Given the description of an element on the screen output the (x, y) to click on. 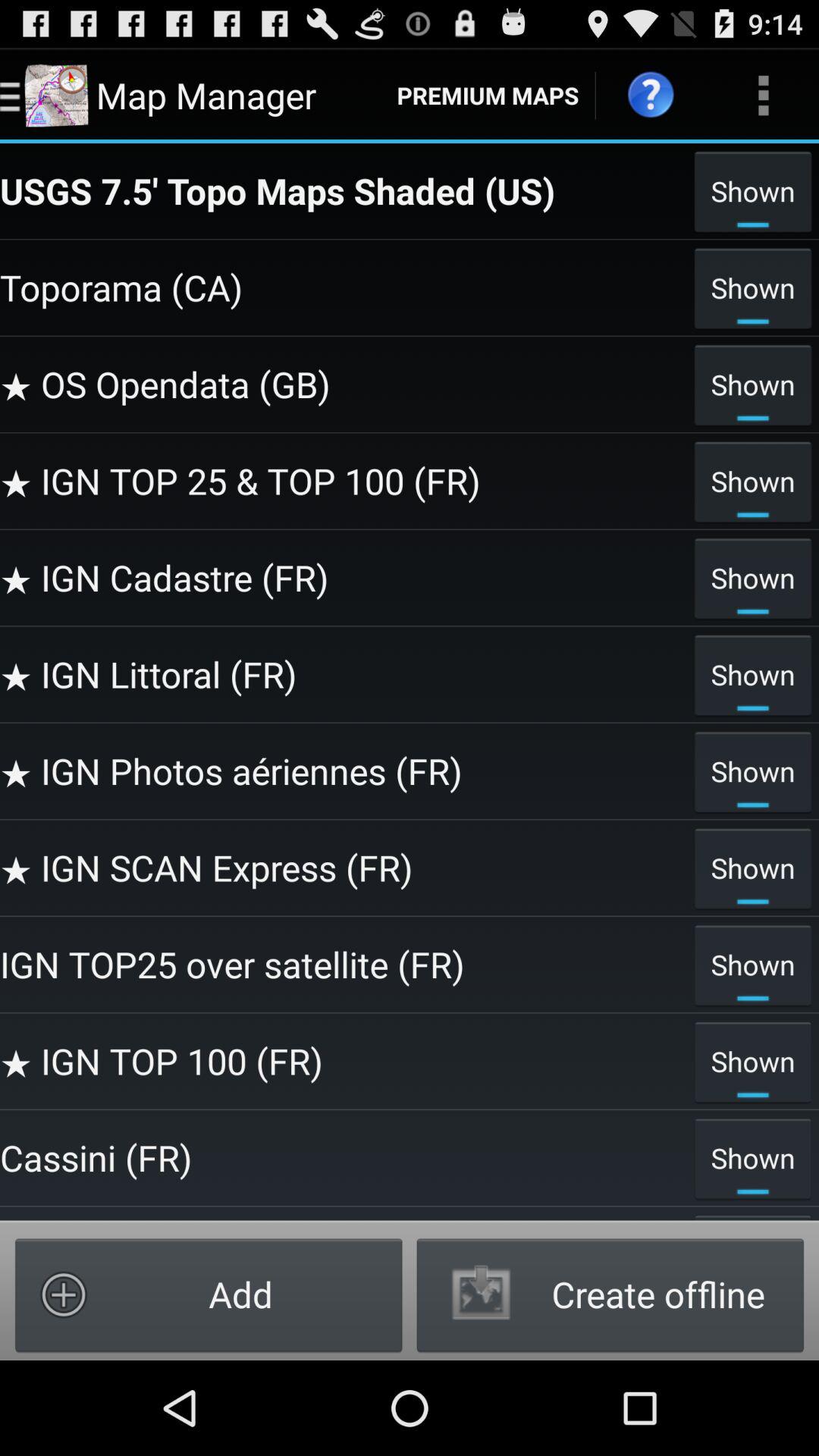
select the premium maps item (487, 95)
